Given the description of an element on the screen output the (x, y) to click on. 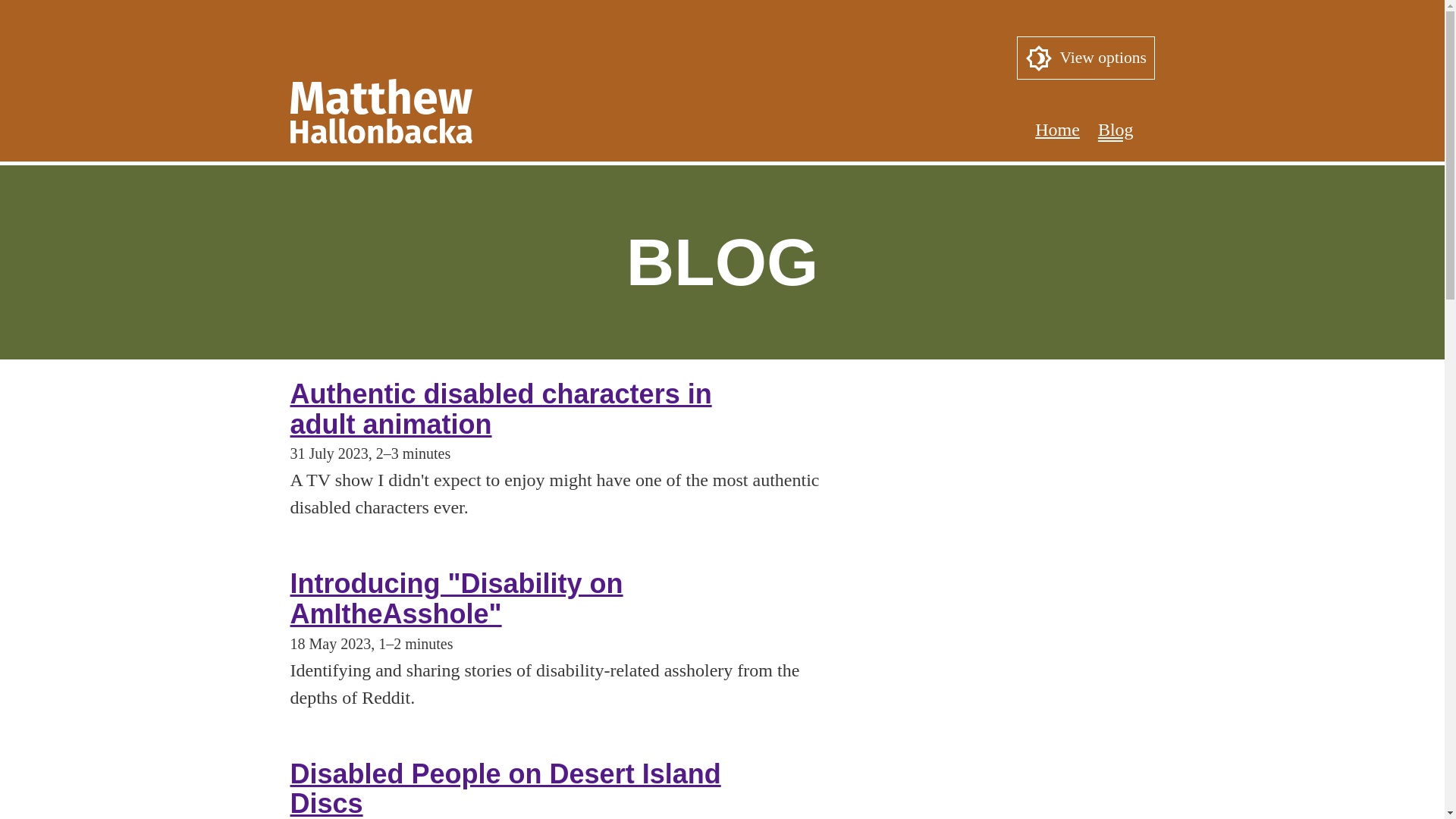
Home (1048, 129)
Introducing "Disability on AmItheAsshole" (456, 598)
View options (1085, 57)
Authentic disabled characters in adult animation (500, 408)
Disabled People on Desert Island Discs (504, 788)
